Given the description of an element on the screen output the (x, y) to click on. 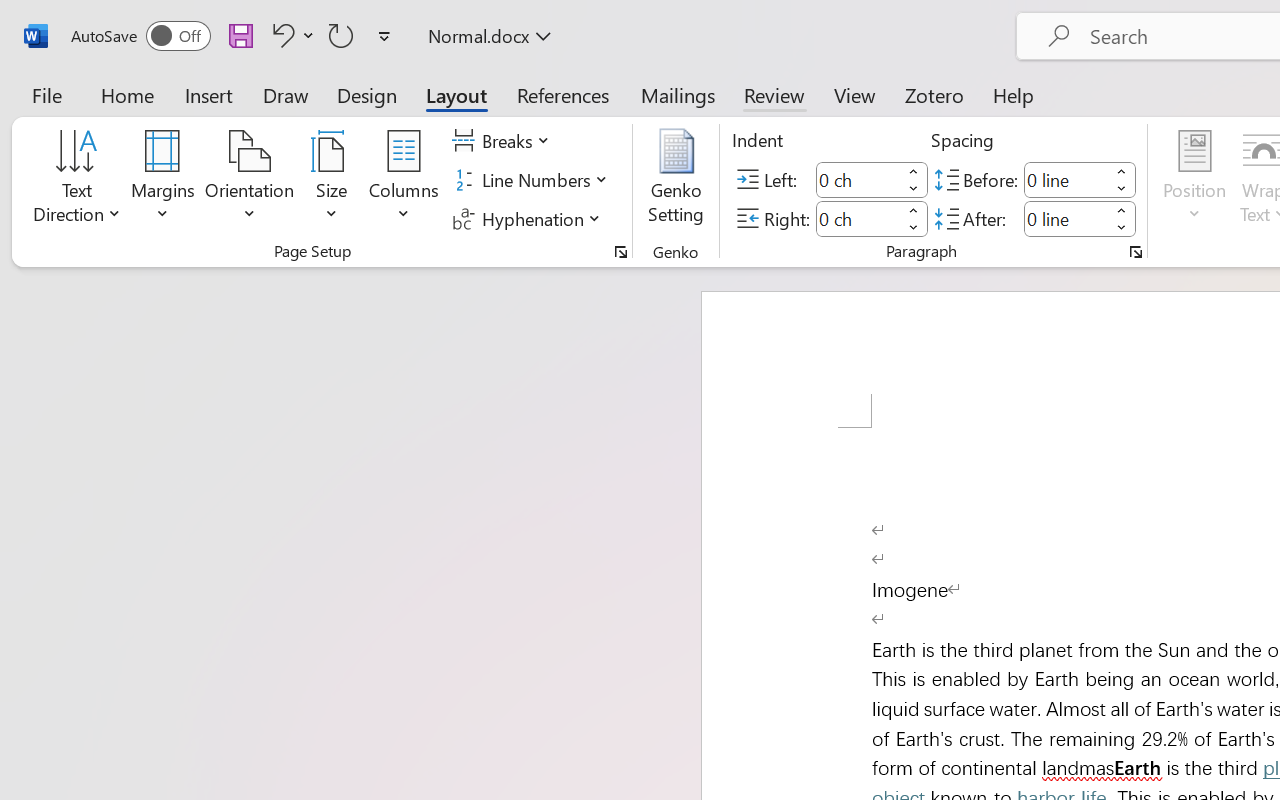
Repeat Doc Close (341, 35)
Breaks (504, 141)
Text Direction (77, 179)
More (1121, 210)
Spacing After (1066, 218)
